Given the description of an element on the screen output the (x, y) to click on. 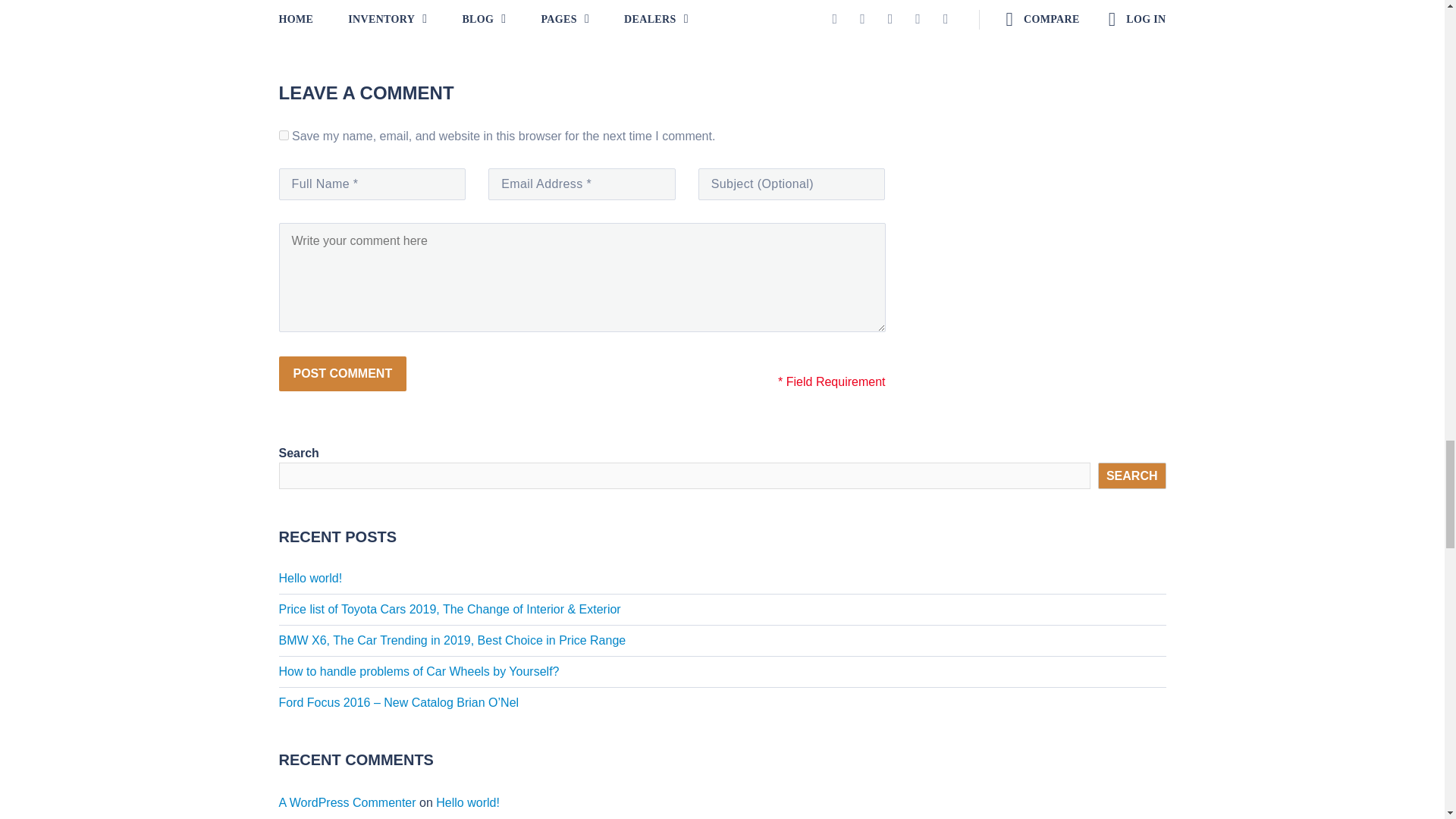
yes (283, 135)
Post Comment (343, 373)
